Given the description of an element on the screen output the (x, y) to click on. 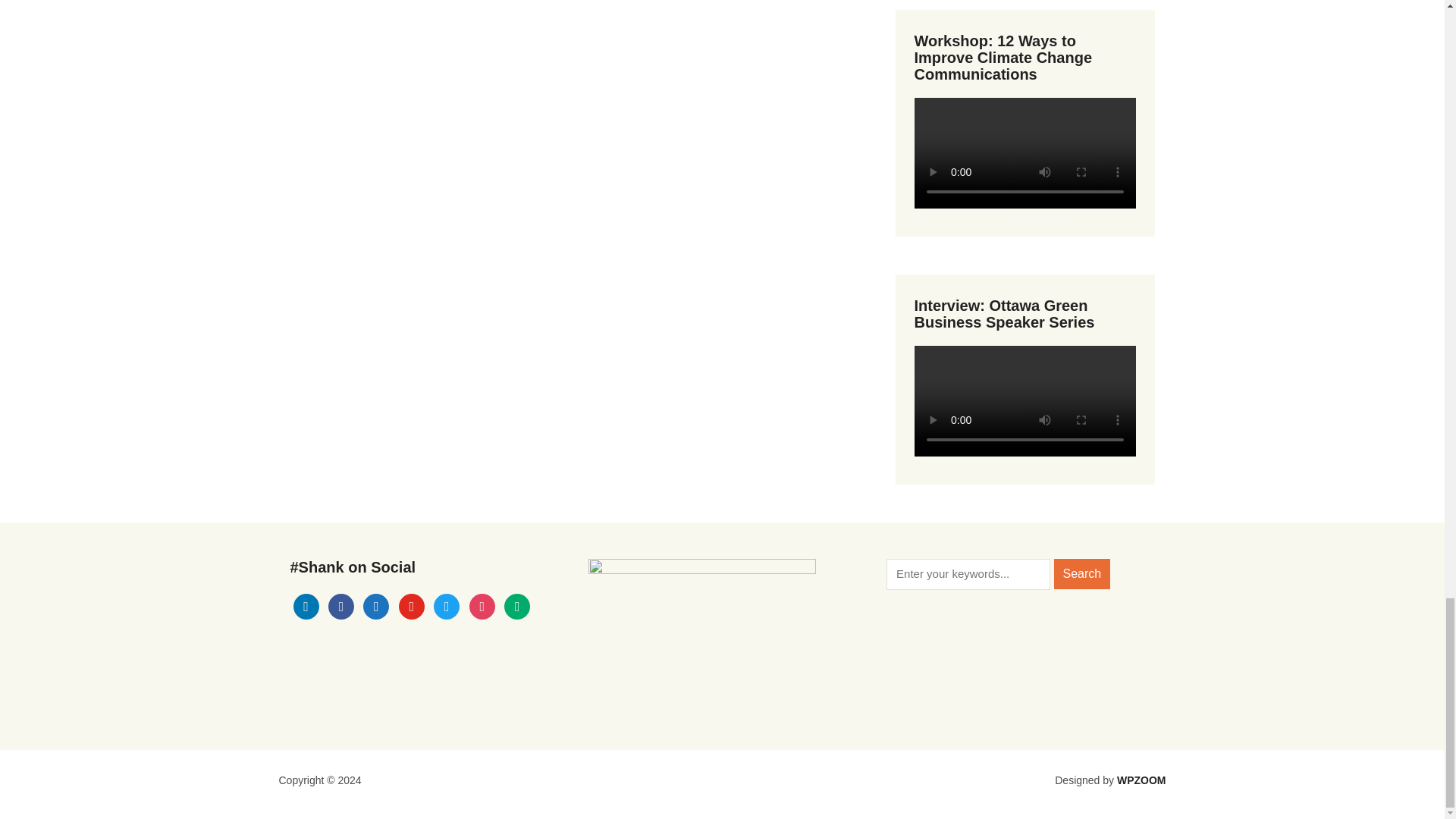
linkedin (305, 604)
Search (1082, 573)
Search (1082, 573)
